Given the description of an element on the screen output the (x, y) to click on. 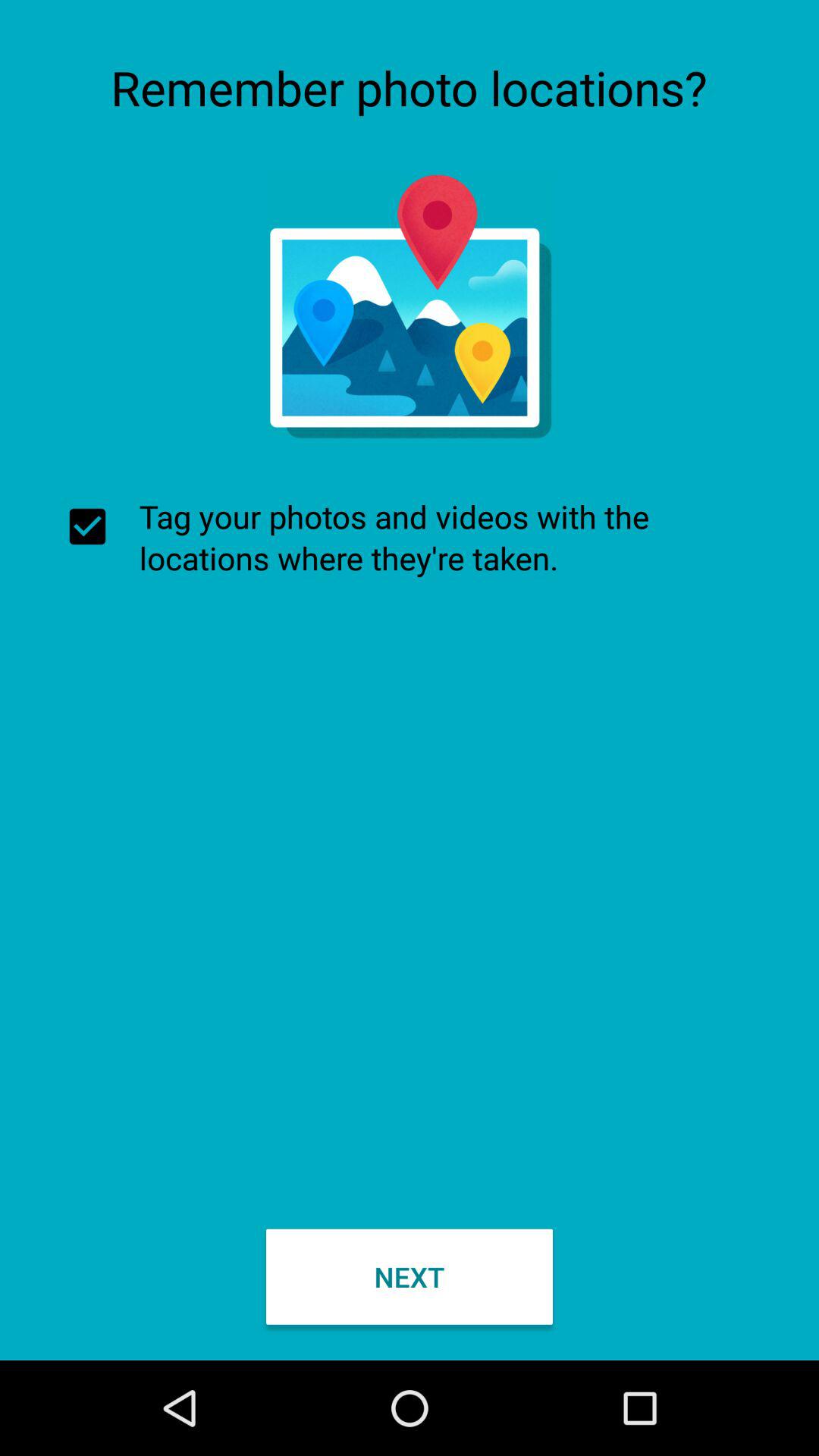
launch item below the tag your photos item (409, 1276)
